Given the description of an element on the screen output the (x, y) to click on. 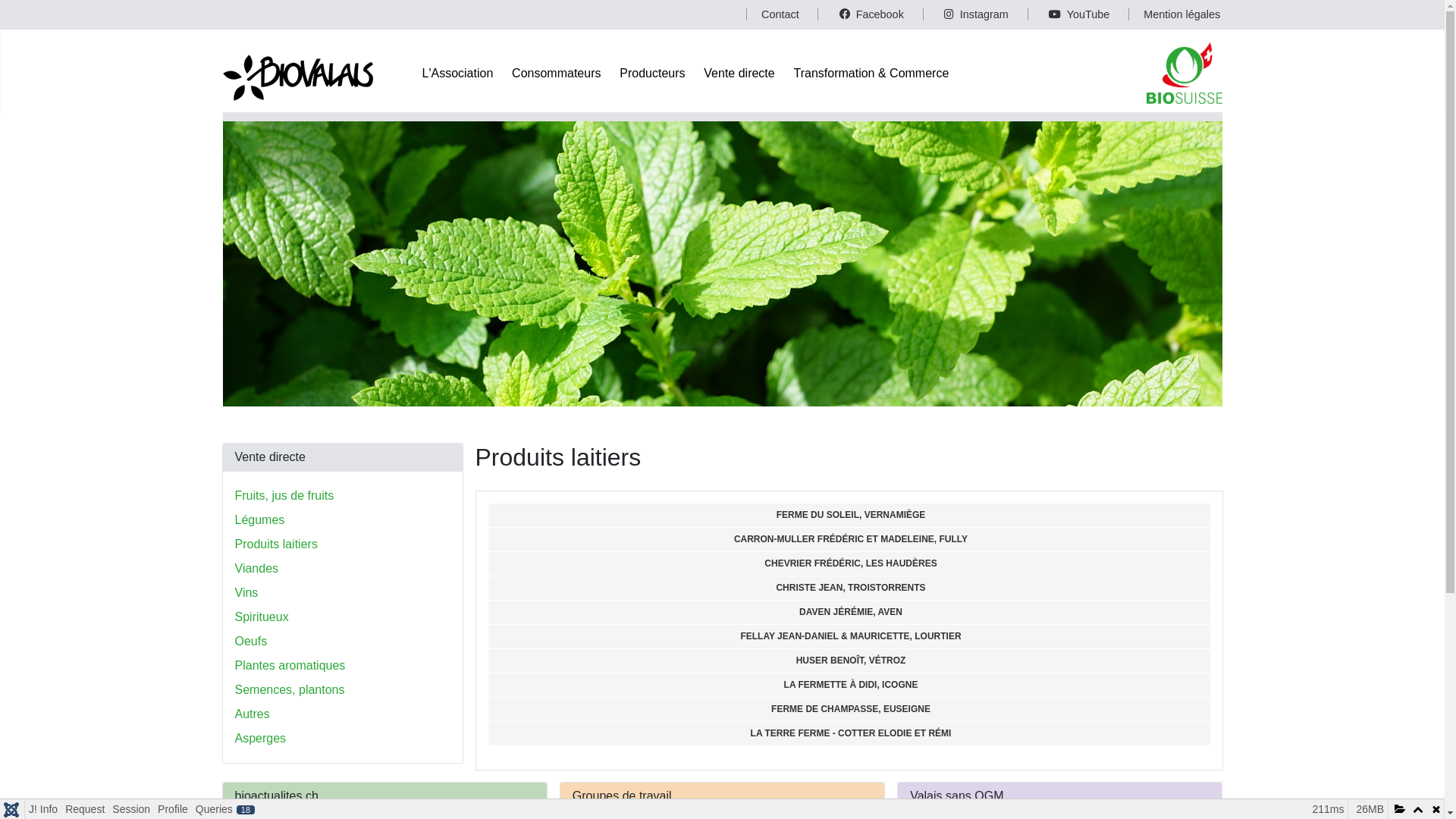
Contact Element type: text (772, 14)
YouTube Element type: text (1068, 14)
Fruits, jus de fruits Element type: text (284, 495)
Semences, plantons Element type: text (290, 689)
Asperges Element type: text (260, 737)
Consommateurs Element type: text (555, 72)
Instagram Element type: text (965, 14)
Facebook Element type: text (860, 14)
Transformation & Commerce Element type: text (871, 72)
Oeufs Element type: text (251, 640)
Vente directe Element type: text (738, 72)
Vins Element type: text (246, 592)
Producteurs Element type: text (651, 72)
Produits laitiers Element type: text (276, 543)
Viandes Element type: text (257, 567)
Spiritueux Element type: text (261, 616)
L'Association Element type: text (456, 72)
Autres Element type: text (252, 713)
Plantes aromatiques Element type: text (290, 664)
